Given the description of an element on the screen output the (x, y) to click on. 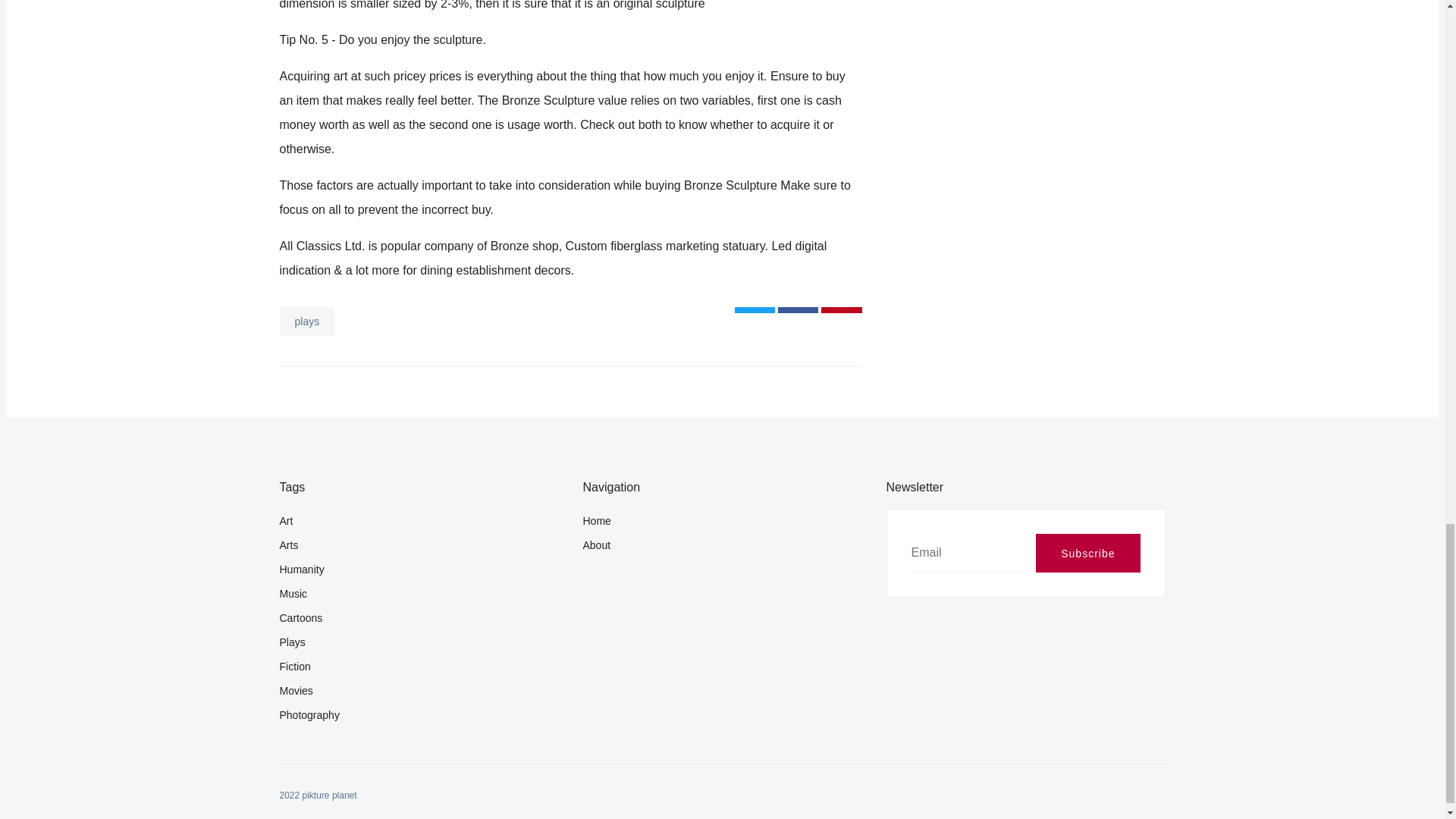
Share on Facebook (797, 309)
plays (306, 321)
Home (715, 520)
Share on Twitter (754, 309)
Subscribe (1087, 552)
Plays (418, 641)
About (721, 545)
Cartoons (418, 617)
Movies (418, 690)
Fiction (418, 666)
